Given the description of an element on the screen output the (x, y) to click on. 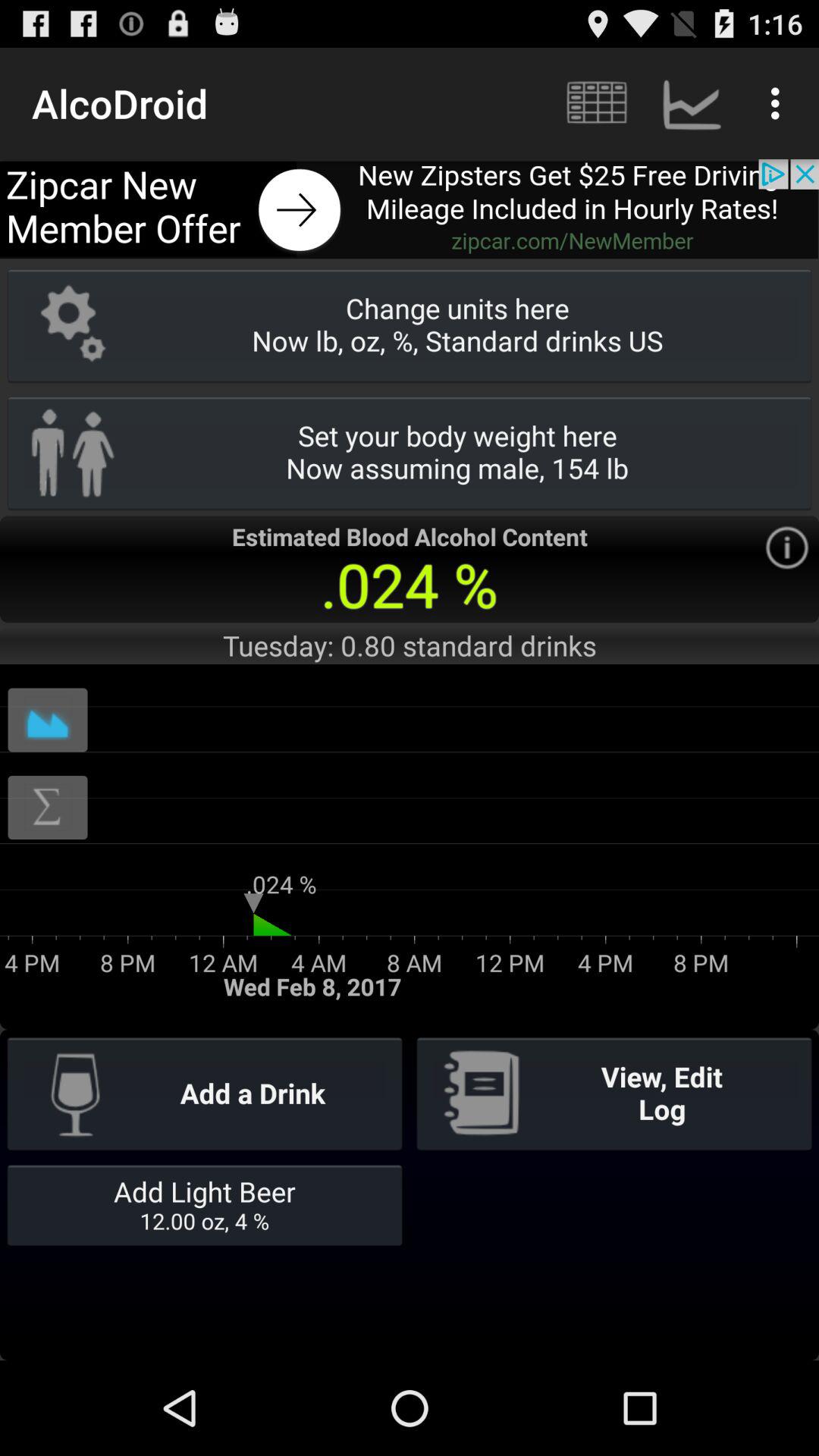
information (787, 547)
